Given the description of an element on the screen output the (x, y) to click on. 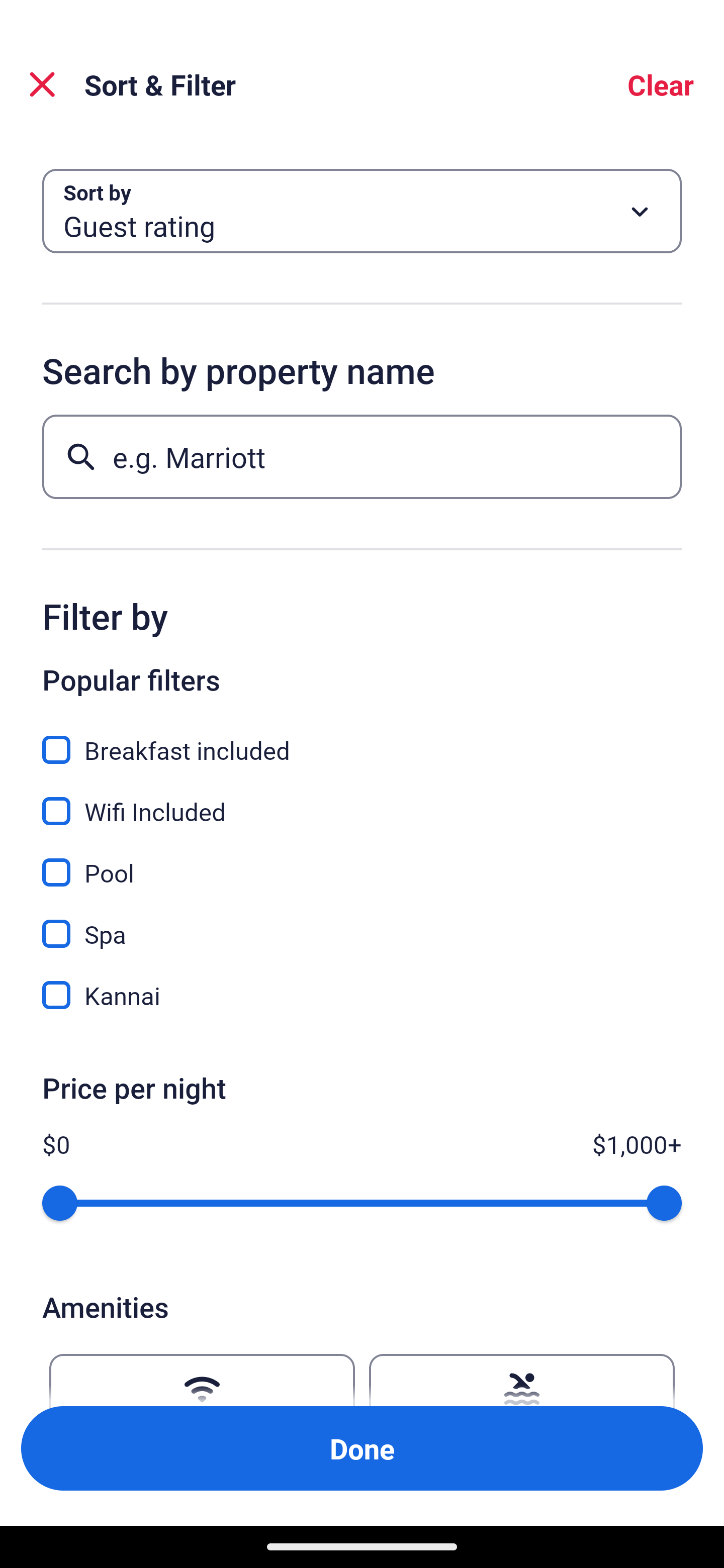
Close Sort and Filter (42, 84)
Clear (660, 84)
Sort by Button Guest rating (361, 211)
e.g. Marriott Button (361, 455)
Breakfast included, Breakfast included (361, 738)
Wifi Included, Wifi Included (361, 800)
Pool, Pool (361, 861)
Spa, Spa (361, 922)
Kannai, Kannai (361, 995)
Apply and close Sort and Filter Done (361, 1448)
